Given the description of an element on the screen output the (x, y) to click on. 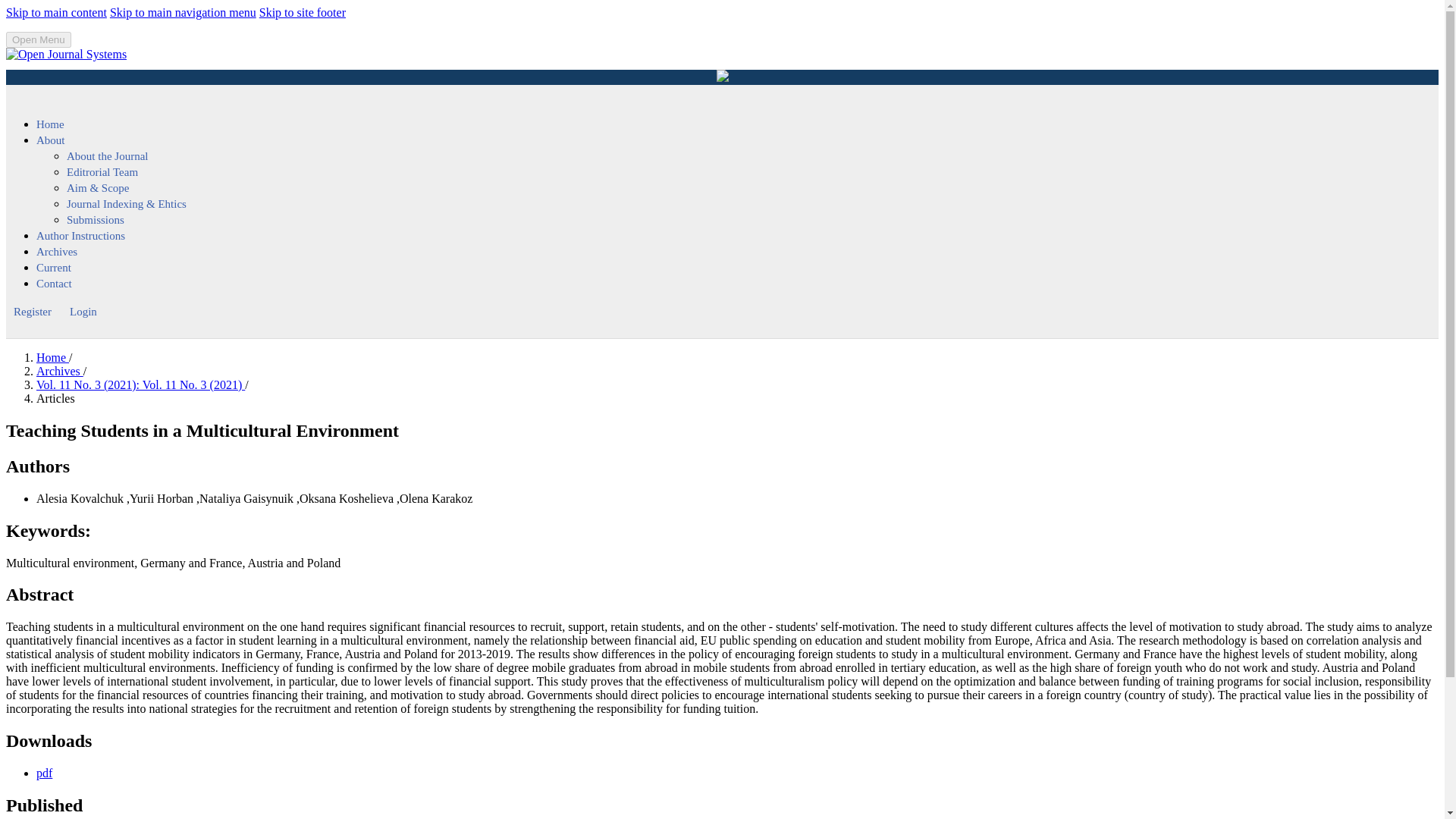
Skip to main content (55, 11)
Skip to site footer (302, 11)
Submissions (94, 220)
pdf (44, 772)
Archives (56, 252)
Current (53, 268)
Archives (59, 370)
Skip to main navigation menu (183, 11)
Home (52, 357)
Home (50, 124)
